Given the description of an element on the screen output the (x, y) to click on. 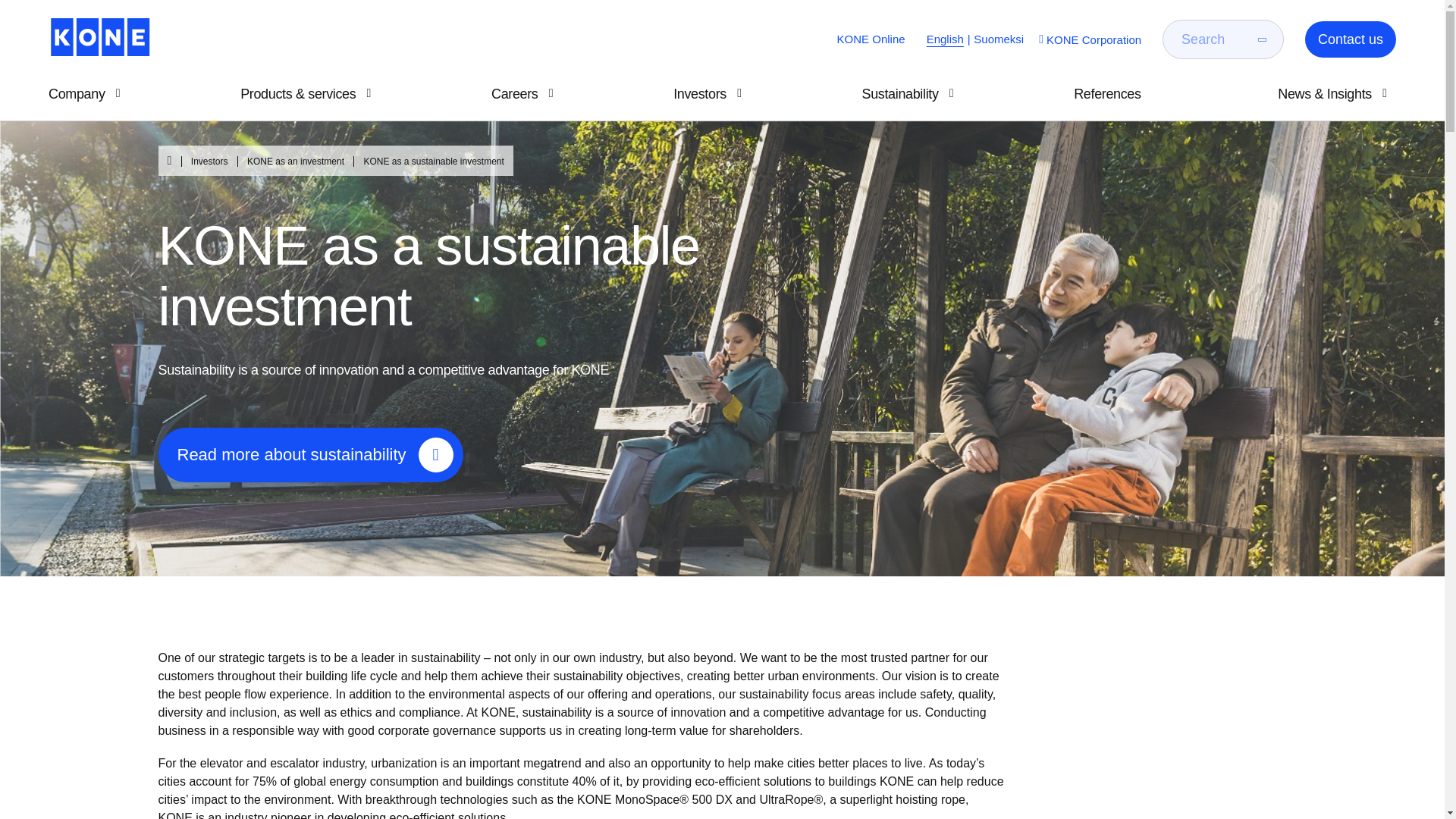
KONE as a sustainable investment (425, 161)
KONE as an investment (287, 161)
Contact us (1350, 39)
English (944, 39)
Company (88, 93)
KONE Online (871, 39)
KONE logo (99, 37)
KONE Corporation (1088, 39)
Investors (201, 161)
Suomeksi (998, 39)
